Given the description of an element on the screen output the (x, y) to click on. 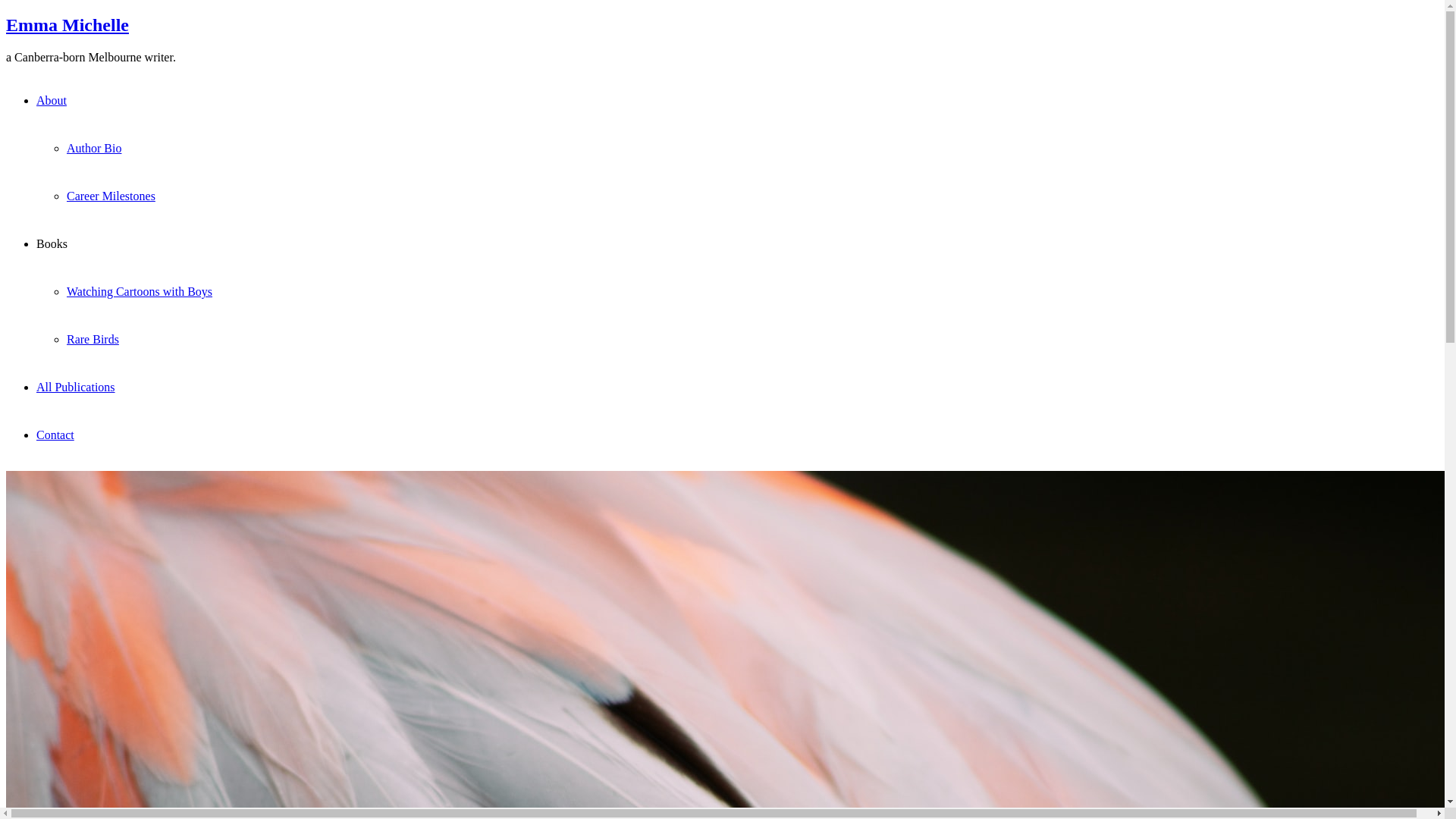
Books Element type: text (51, 243)
About Element type: text (51, 100)
Author Bio Element type: text (93, 147)
Career Milestones Element type: text (110, 195)
Watching Cartoons with Boys Element type: text (139, 291)
Rare Birds Element type: text (92, 338)
Emma Michelle Element type: text (67, 24)
All Publications Element type: text (75, 386)
Contact Element type: text (55, 434)
